Given the description of an element on the screen output the (x, y) to click on. 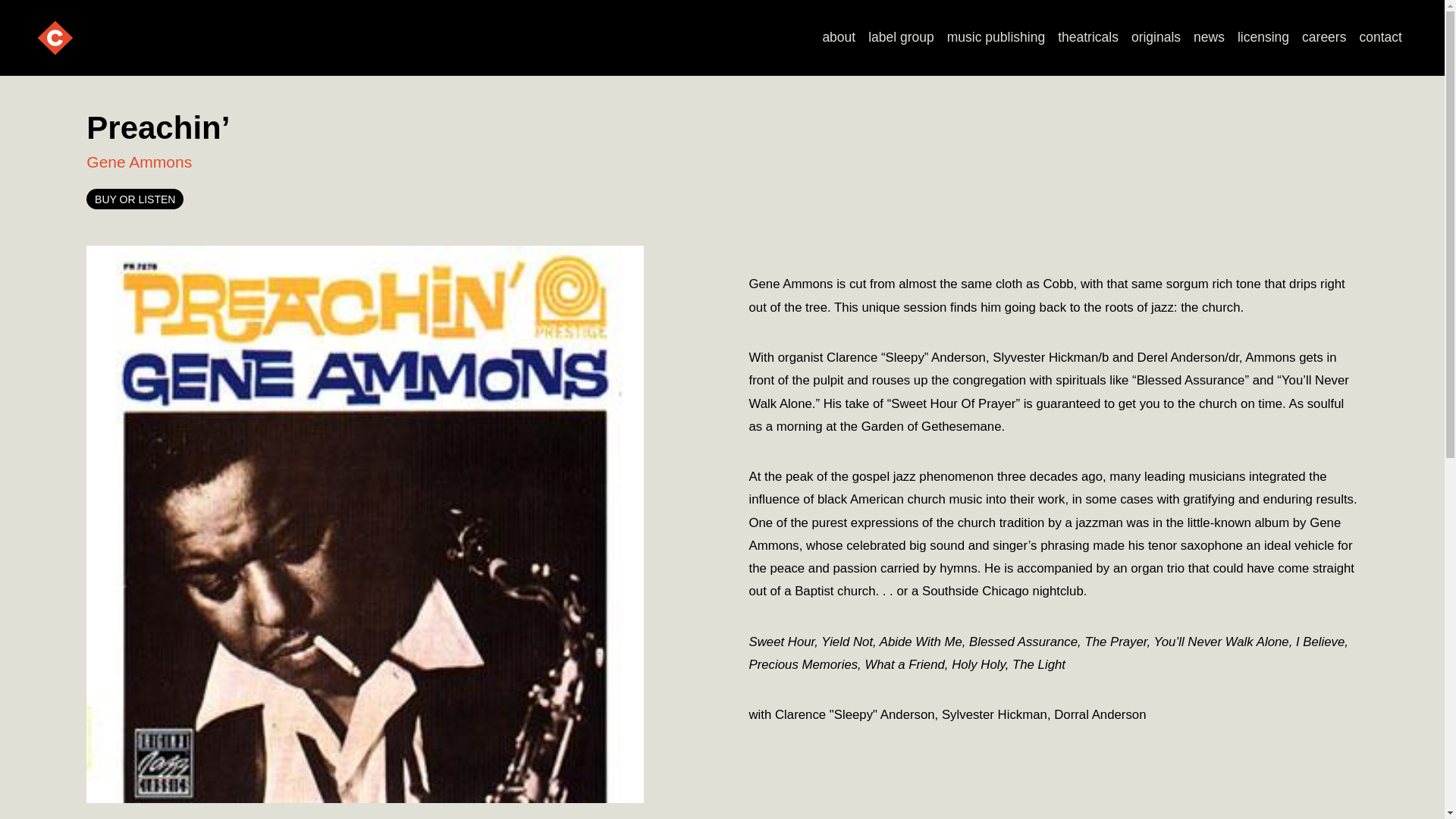
about (838, 38)
contact (1379, 38)
news (1209, 38)
careers (1323, 38)
originals (1155, 38)
theatricals (1088, 38)
label group (900, 38)
music publishing (995, 38)
licensing (1262, 38)
